Given the description of an element on the screen output the (x, y) to click on. 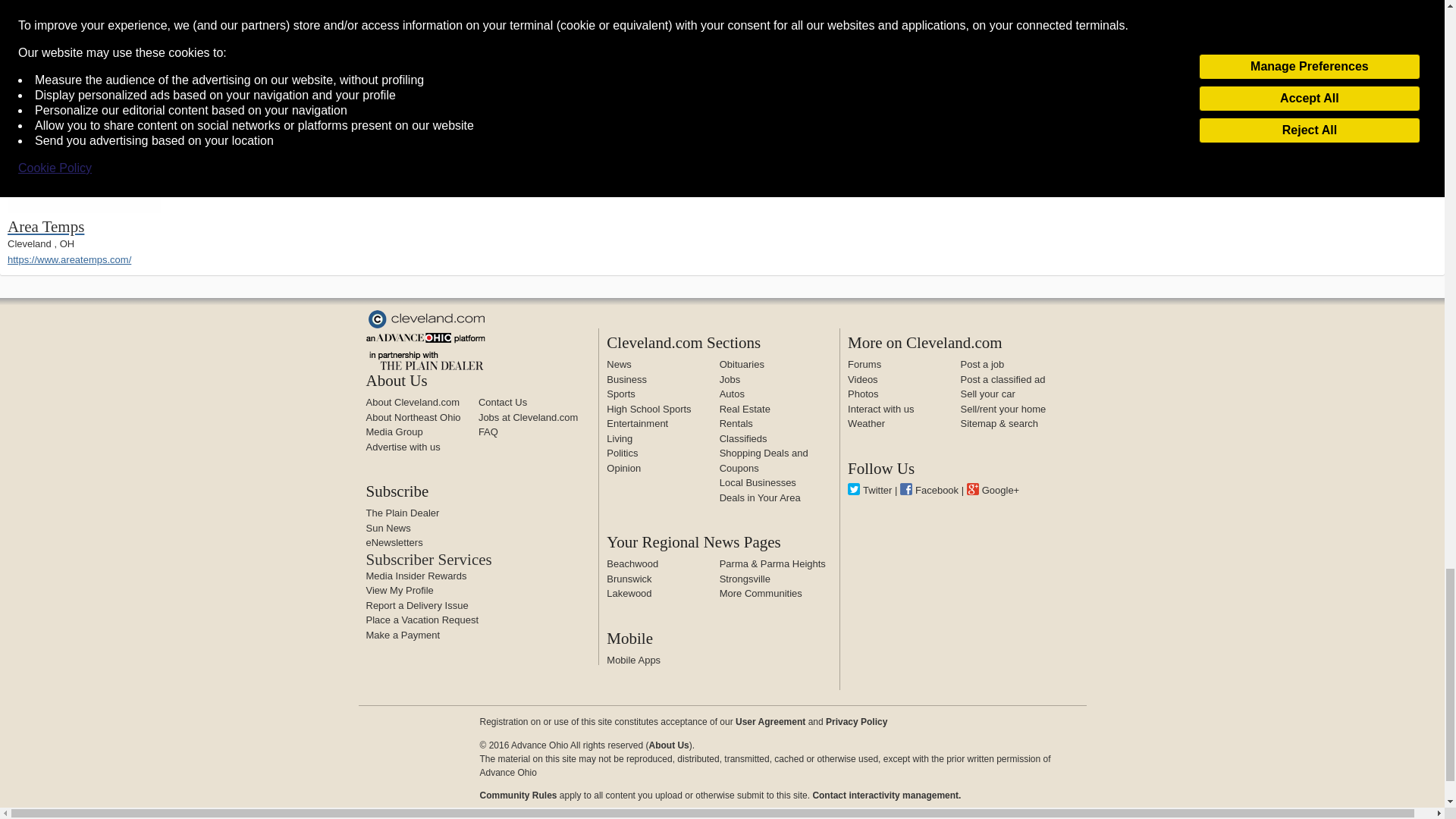
Community Rules (886, 795)
FAQ (488, 431)
Contact Us (503, 401)
User Agreement (770, 721)
Community Rules (517, 795)
Privacy Policy (855, 721)
